Given the description of an element on the screen output the (x, y) to click on. 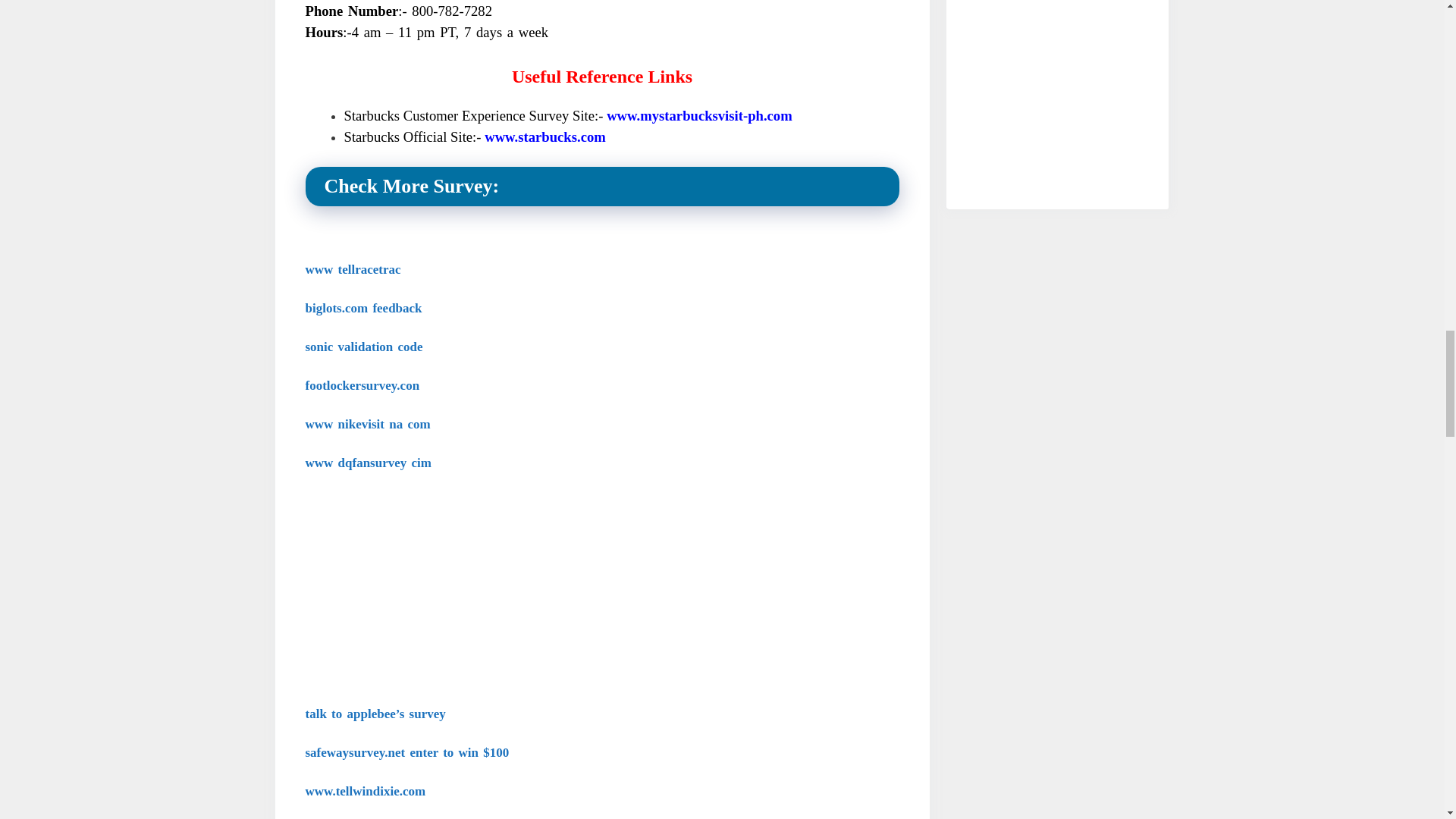
www tellracetrac (352, 269)
footlockersurvey.con (361, 385)
sonic validation code (363, 346)
www.mystarbucksvisit-ph.com (699, 115)
biglots.com feedback (363, 308)
www dqfansurvey cim (367, 462)
www nikevisit na com (366, 423)
Advertisement (1057, 89)
www.starbucks.com (544, 136)
www.tellwindixie.com (364, 790)
